Given the description of an element on the screen output the (x, y) to click on. 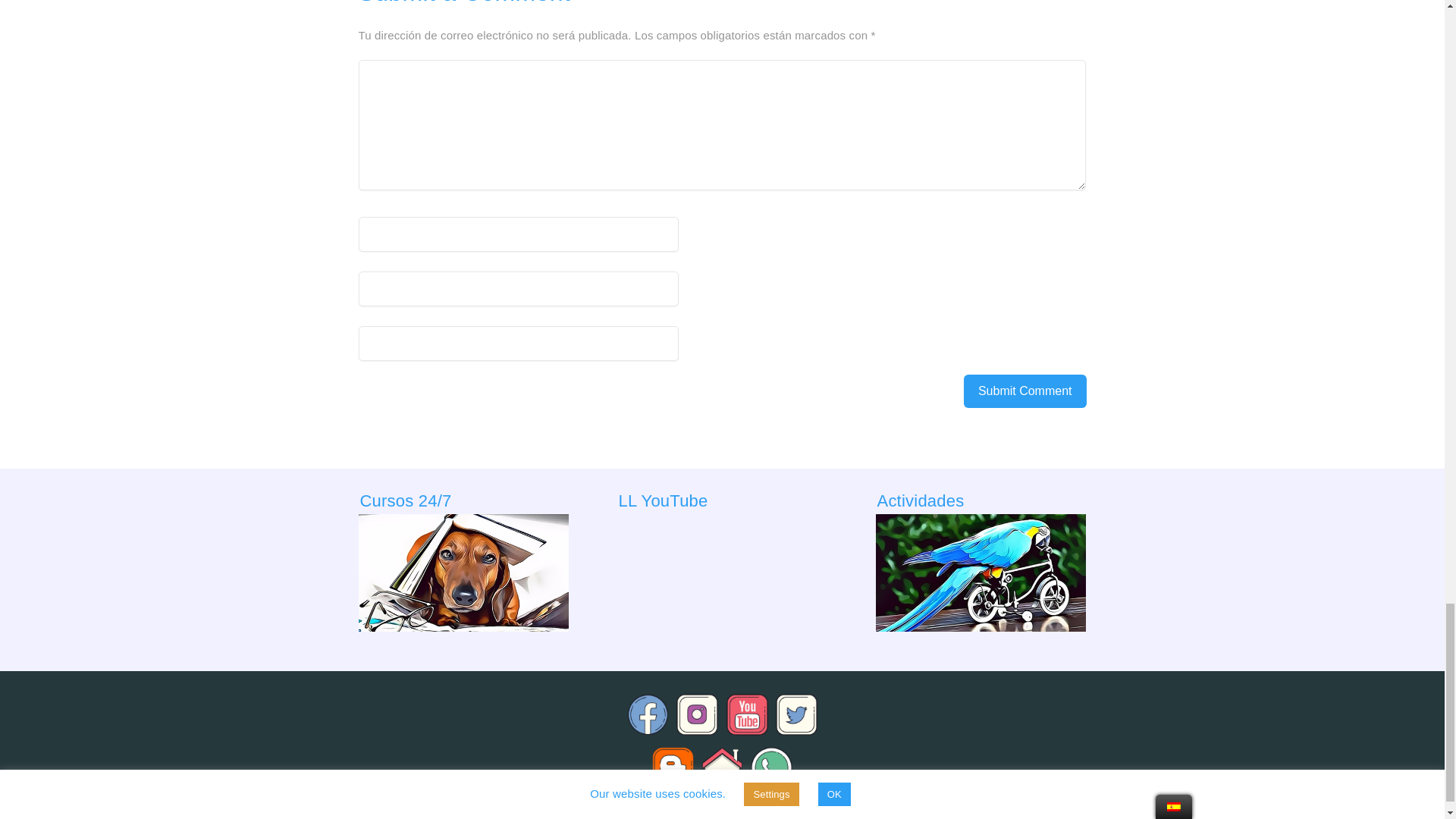
Submit Comment (1024, 390)
